Given the description of an element on the screen output the (x, y) to click on. 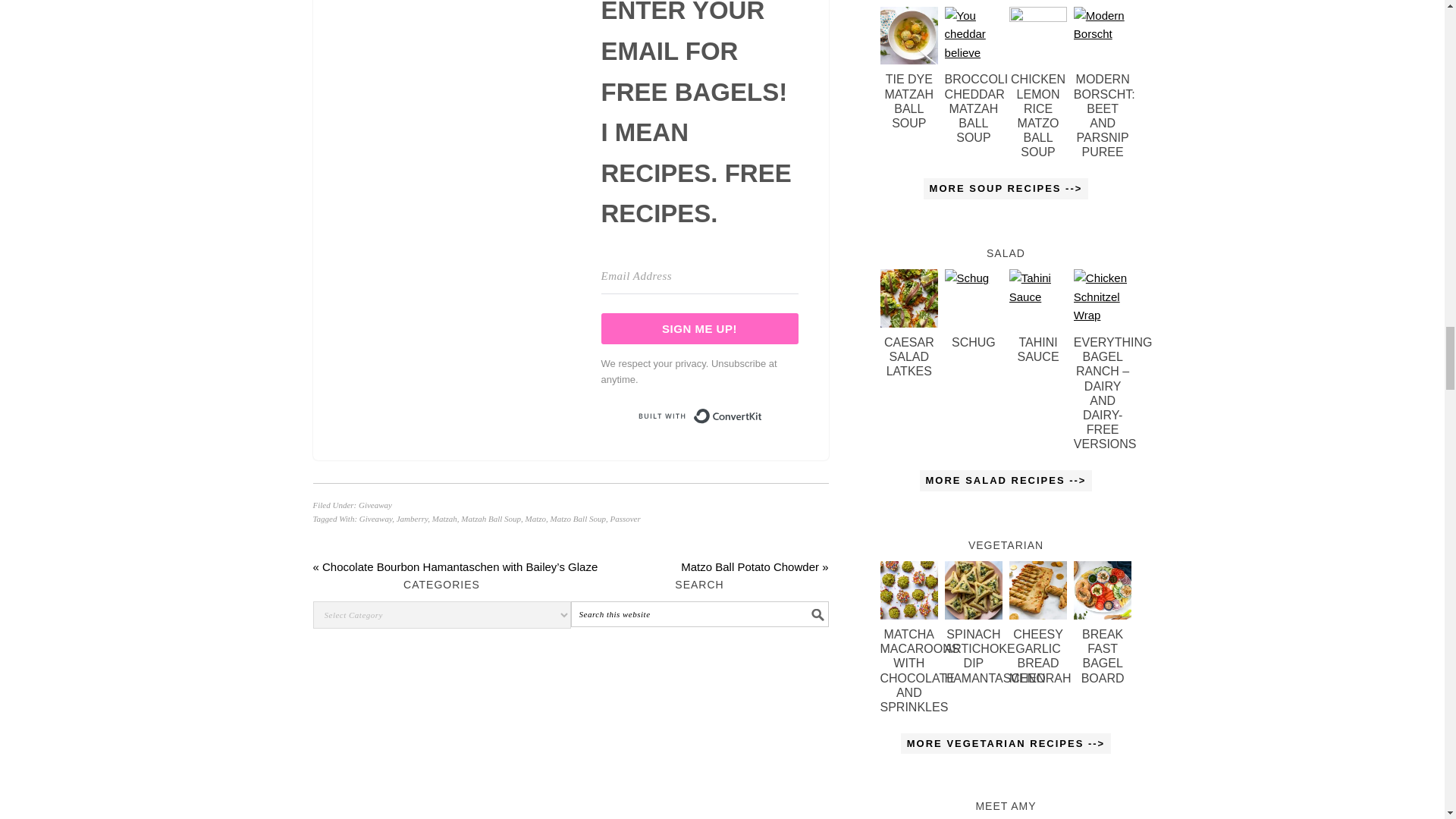
Built with ConvertKit (699, 415)
Giveaway (375, 518)
Giveaway (374, 504)
SIGN ME UP! (698, 327)
